Given the description of an element on the screen output the (x, y) to click on. 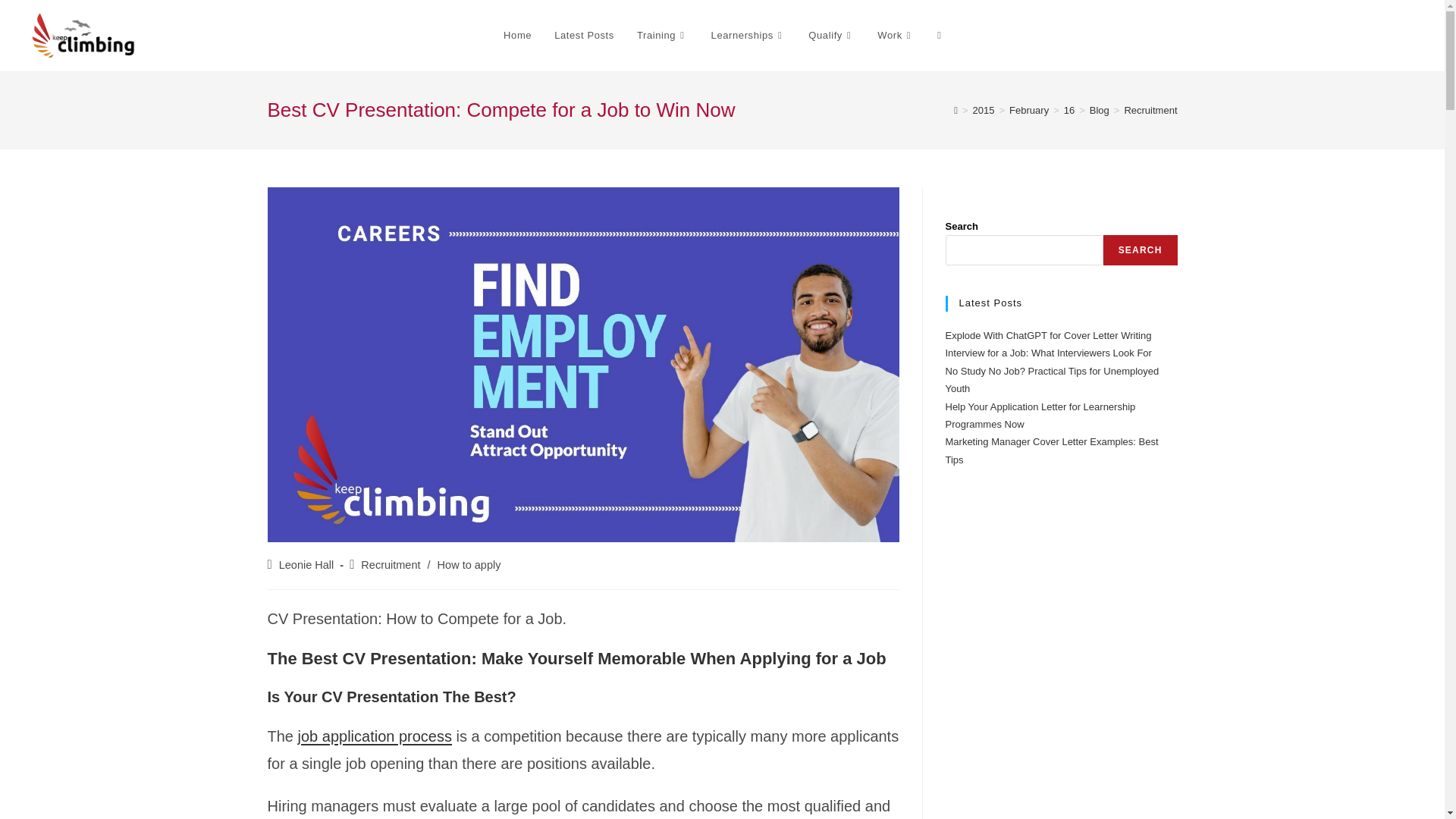
Latest Posts (584, 35)
Training (663, 35)
Work (896, 35)
Qualify (831, 35)
Learnerships (748, 35)
Posts by Leonie Hall (306, 564)
Home (517, 35)
